Given the description of an element on the screen output the (x, y) to click on. 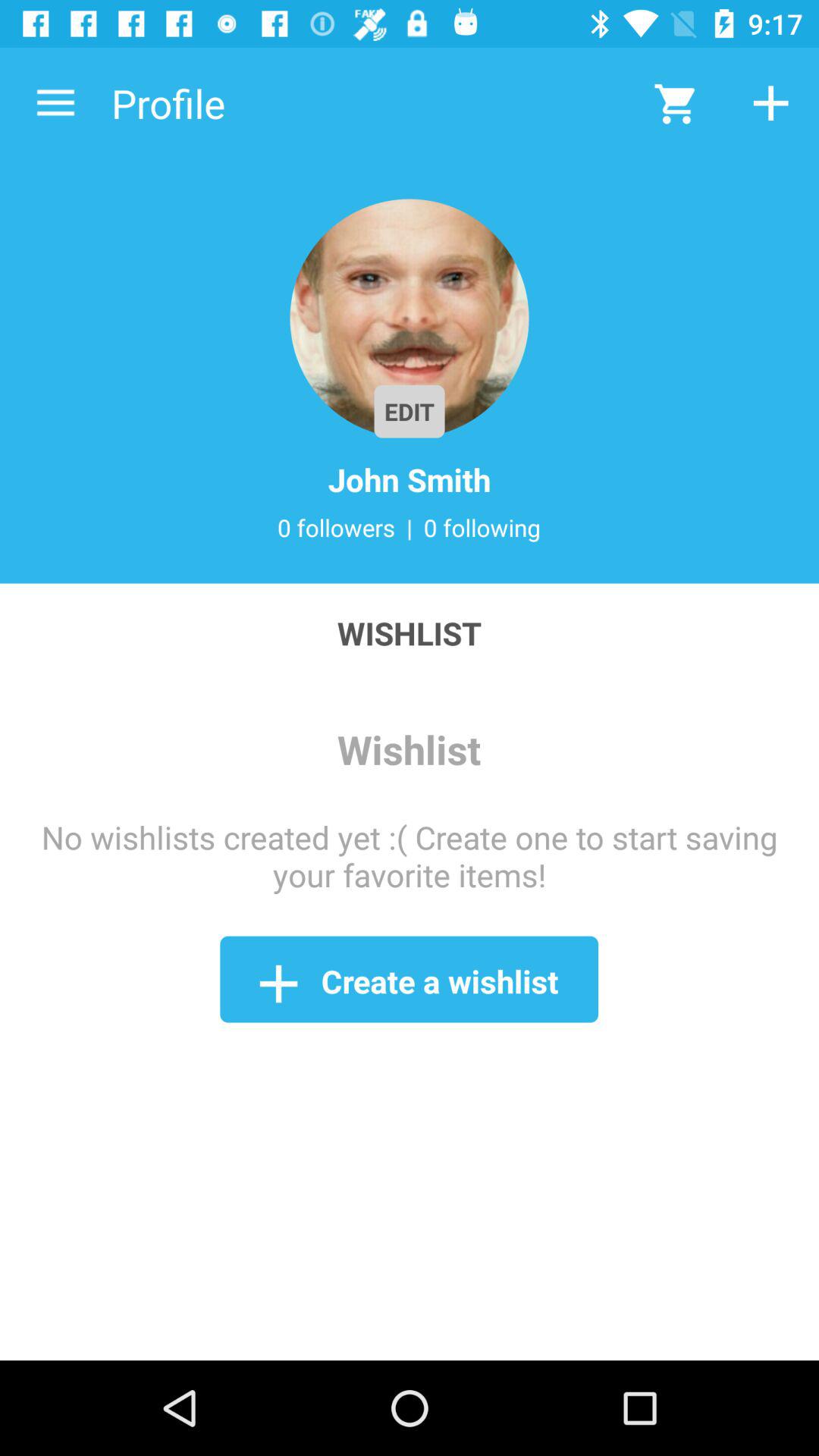
open icon below the john smith (409, 527)
